Given the description of an element on the screen output the (x, y) to click on. 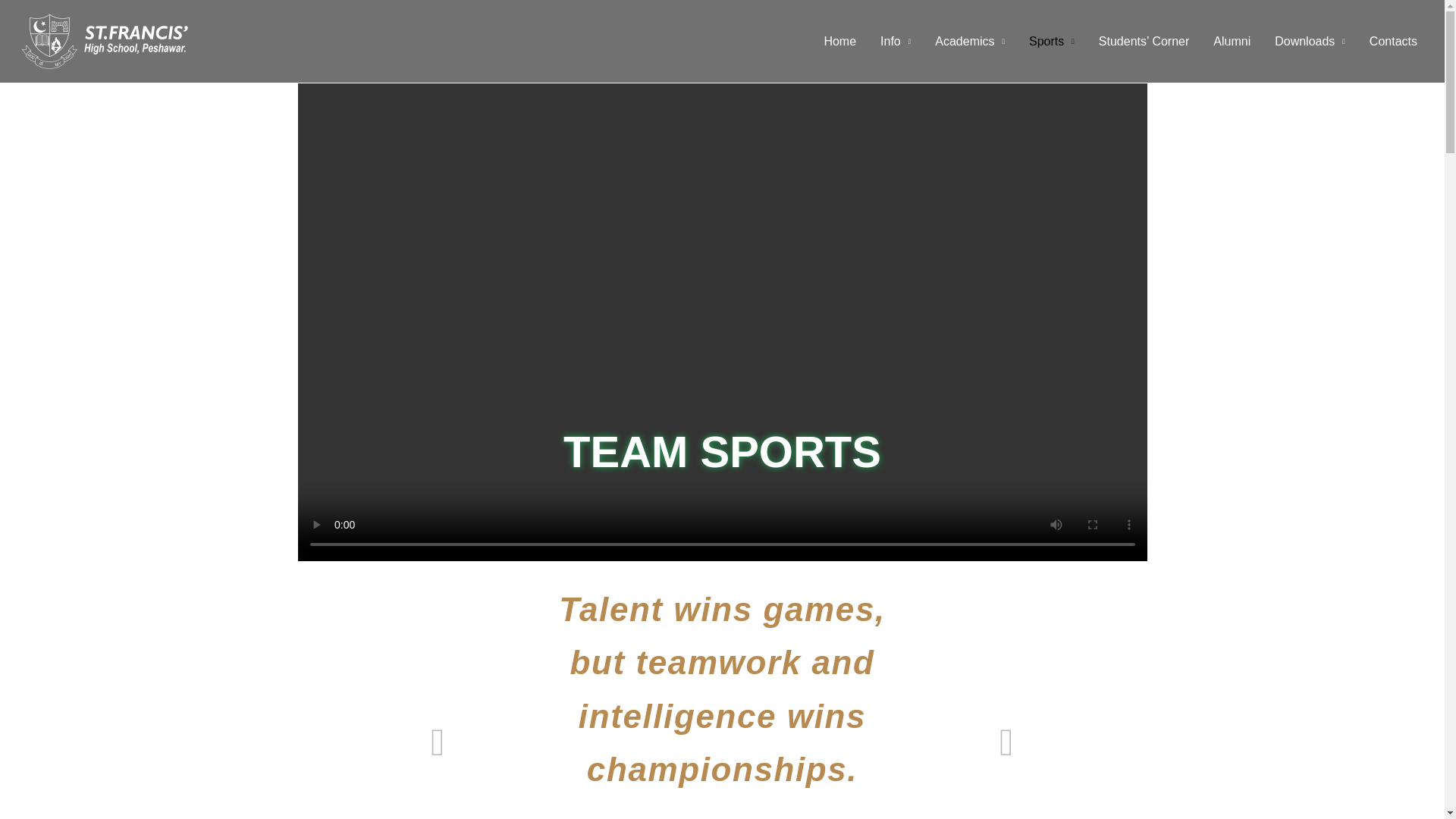
Alumni (1231, 40)
Sports (1051, 40)
Info (895, 40)
Downloads (1309, 40)
Contacts (1392, 40)
Academics (969, 40)
Home (838, 40)
